Given the description of an element on the screen output the (x, y) to click on. 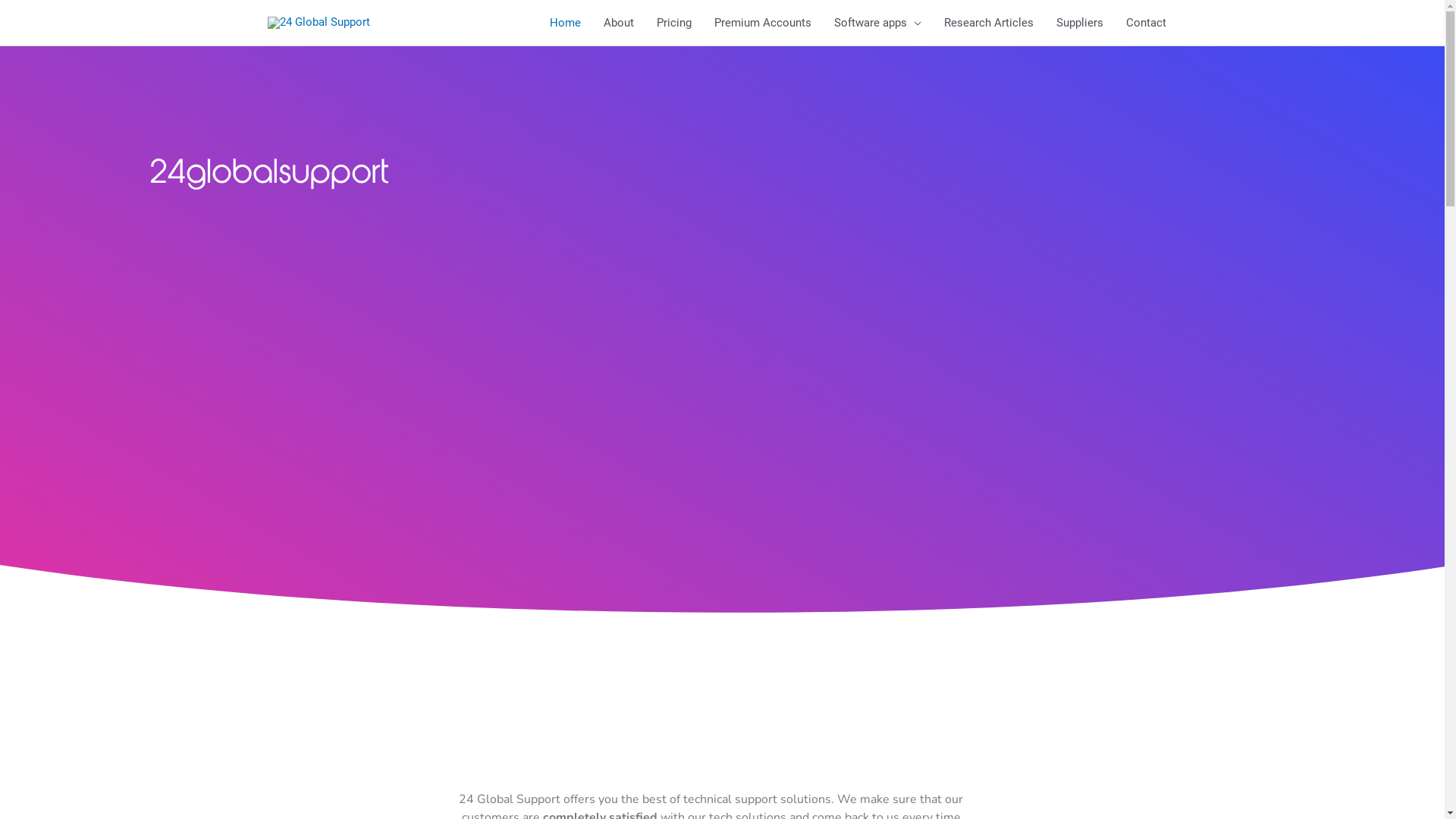
Software apps Element type: text (876, 22)
Research Articles Element type: text (988, 22)
Home Element type: text (565, 22)
Pricing Element type: text (673, 22)
About Element type: text (617, 22)
Premium Accounts Element type: text (762, 22)
Suppliers Element type: text (1079, 22)
Contact Element type: text (1145, 22)
